Given the description of an element on the screen output the (x, y) to click on. 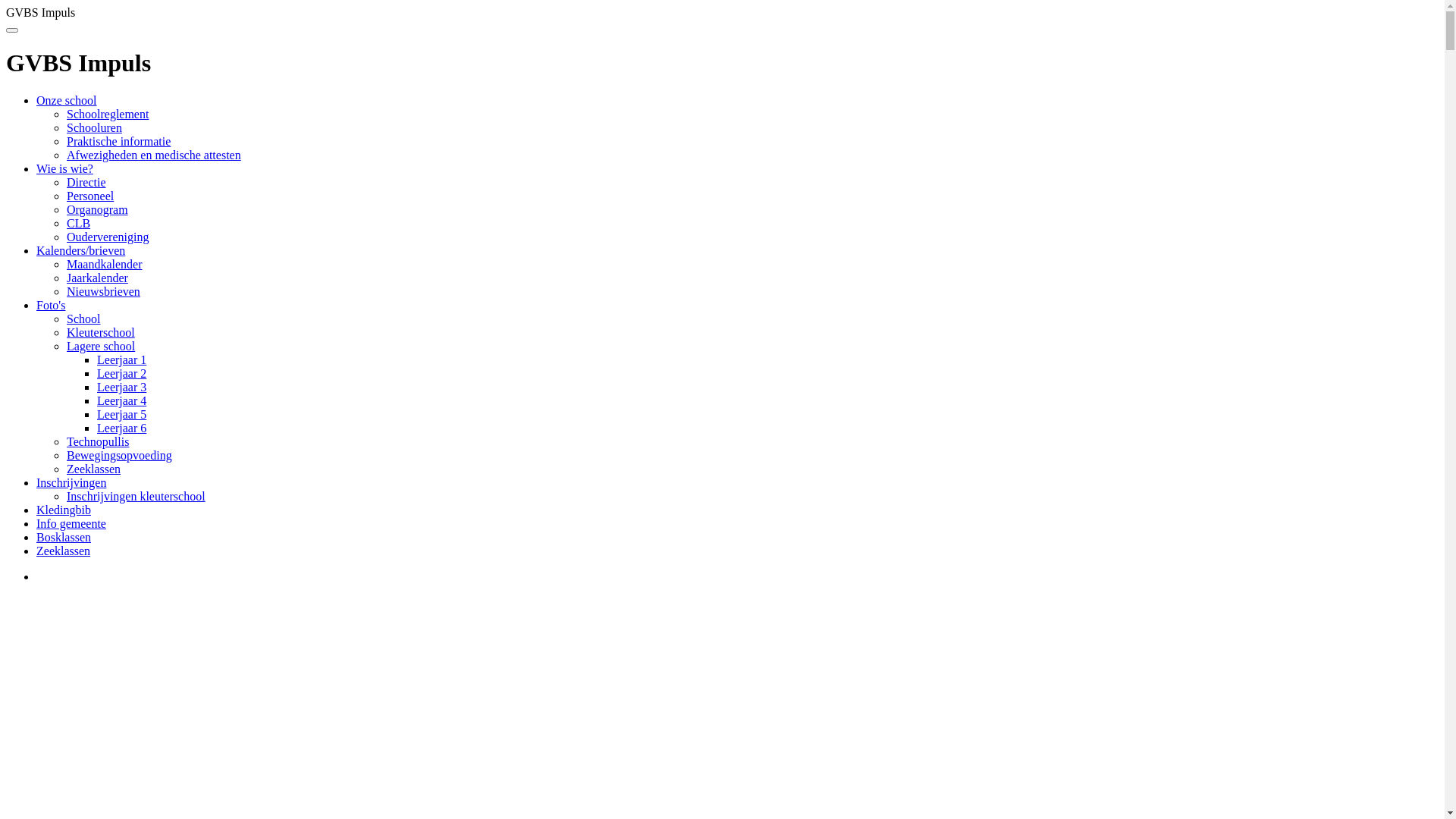
Leerjaar 6 Element type: text (121, 427)
Personeel Element type: text (89, 195)
Bewegingsopvoeding Element type: text (119, 454)
Onze school Element type: text (66, 100)
Schooluren Element type: text (94, 127)
Kleuterschool Element type: text (100, 332)
Schoolreglement Element type: text (107, 113)
CLB Element type: text (78, 222)
Inschrijvingen kleuterschool Element type: text (135, 495)
Bosklassen Element type: text (63, 536)
Inschrijvingen Element type: text (71, 482)
Wie is wie? Element type: text (64, 168)
Leerjaar 2 Element type: text (121, 373)
Nieuwsbrieven Element type: text (103, 291)
Lagere school Element type: text (100, 345)
Foto's Element type: text (50, 304)
Jaarkalender Element type: text (97, 277)
Zeeklassen Element type: text (93, 468)
Oudervereniging Element type: text (107, 236)
School Element type: text (83, 318)
Leerjaar 3 Element type: text (121, 386)
Leerjaar 1 Element type: text (121, 359)
Technopullis Element type: text (97, 441)
Leerjaar 5 Element type: text (121, 413)
Organogram Element type: text (97, 209)
Zeeklassen Element type: text (63, 550)
Leerjaar 4 Element type: text (121, 400)
Kalenders/brieven Element type: text (80, 250)
Afwezigheden en medische attesten Element type: text (153, 154)
Directie Element type: text (86, 181)
Maandkalender Element type: text (104, 263)
Info gemeente Element type: text (71, 523)
Kledingbib Element type: text (63, 509)
Praktische informatie Element type: text (118, 140)
